Given the description of an element on the screen output the (x, y) to click on. 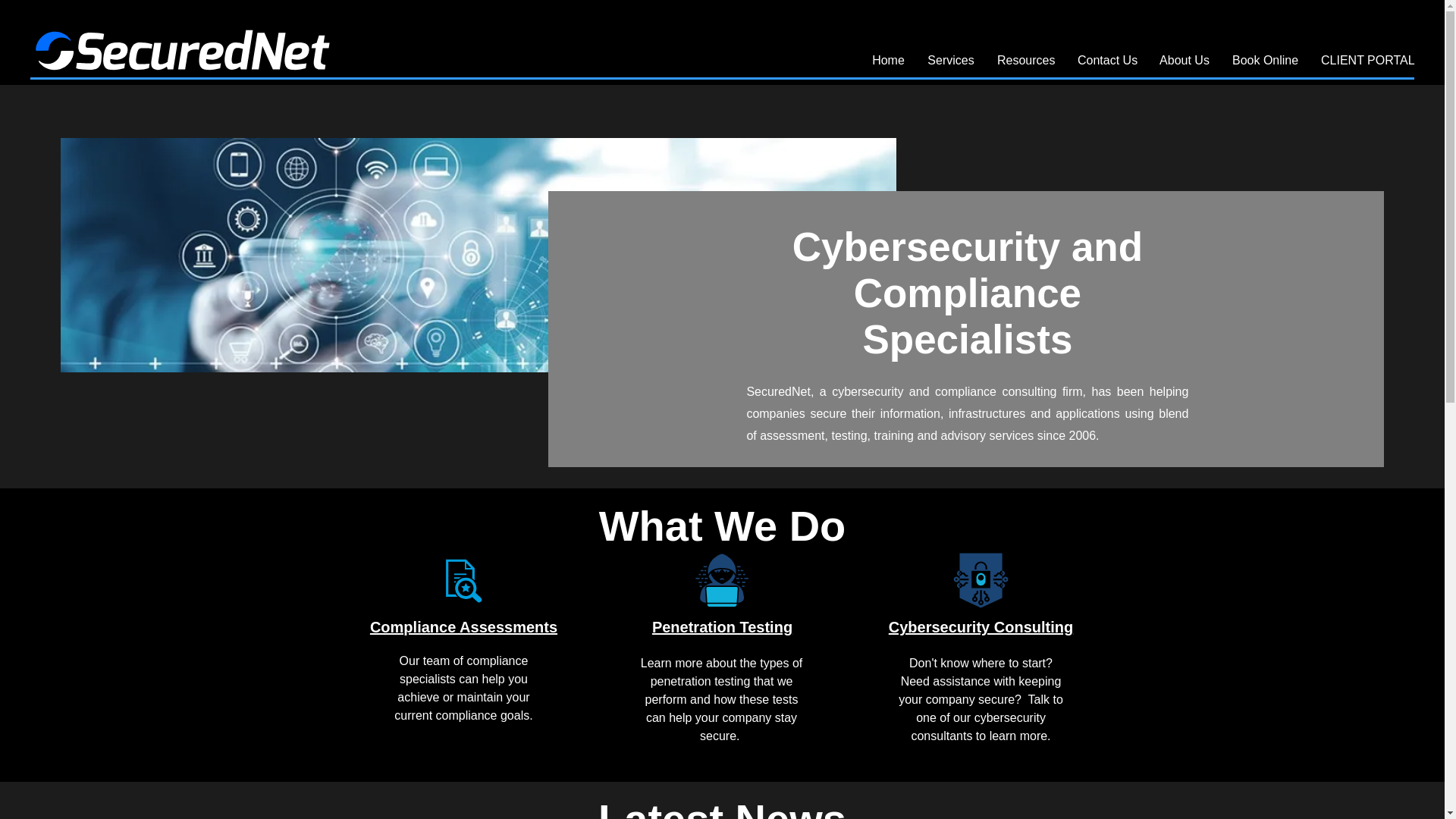
Compliance Assessments (463, 627)
About Us (1184, 60)
Book Online (1264, 60)
CLIENT PORTAL (1365, 60)
Contact Us (1106, 60)
Cybersecurity Consulting (980, 627)
Penetration Testing (722, 627)
Home (887, 60)
Services (950, 60)
